Given the description of an element on the screen output the (x, y) to click on. 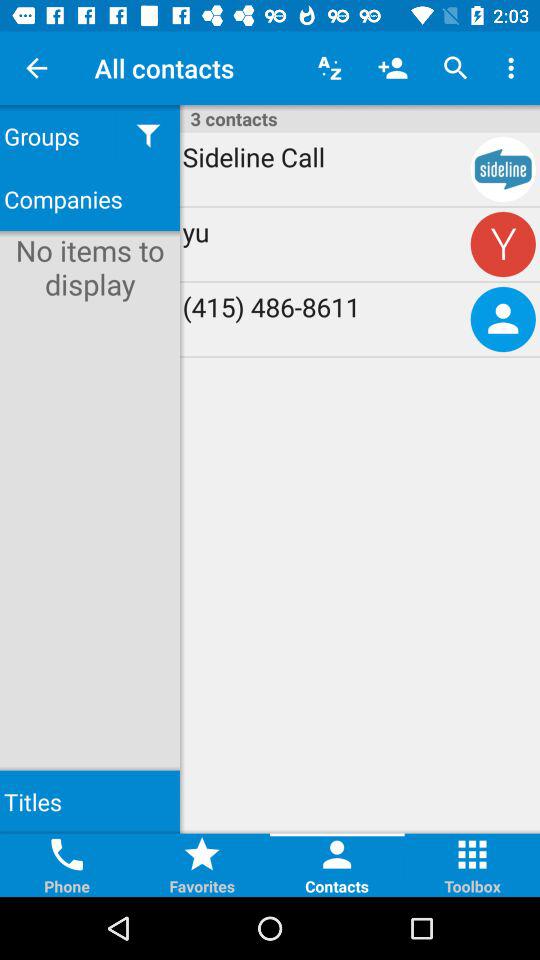
swipe to titles item (90, 801)
